Given the description of an element on the screen output the (x, y) to click on. 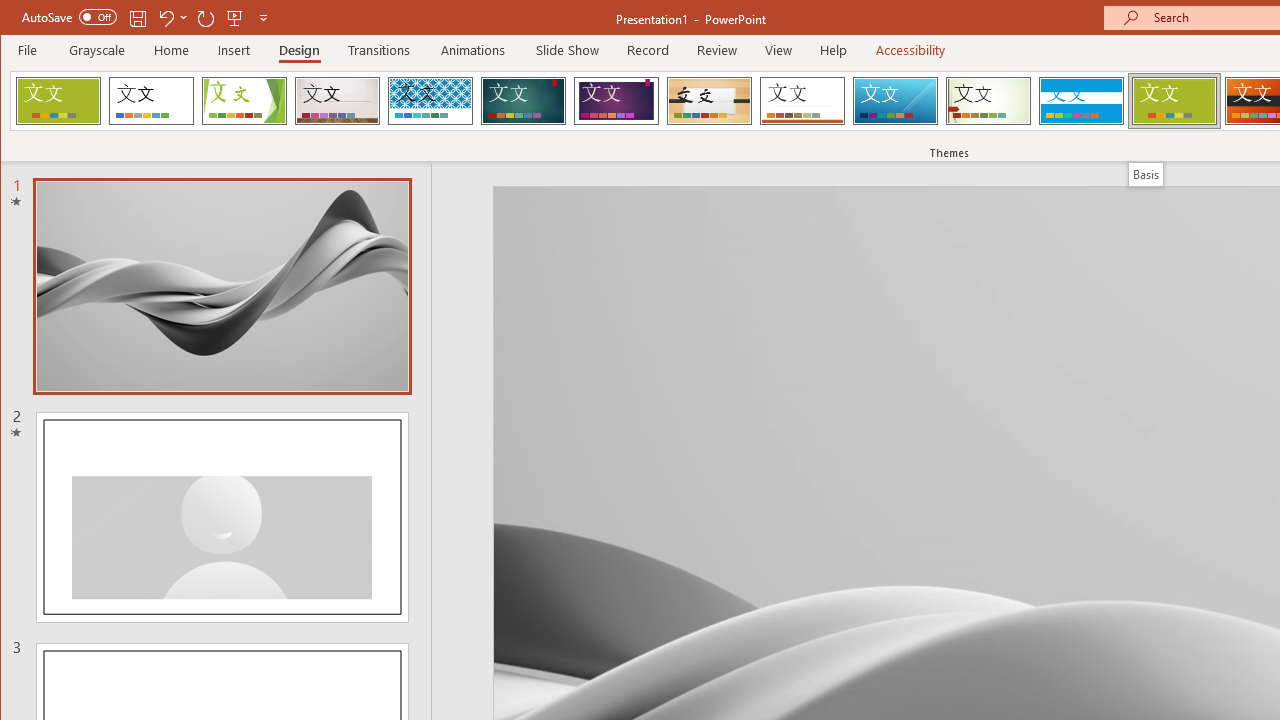
Basis (1174, 100)
Ion (523, 100)
Retrospect (802, 100)
Facet (244, 100)
